Given the description of an element on the screen output the (x, y) to click on. 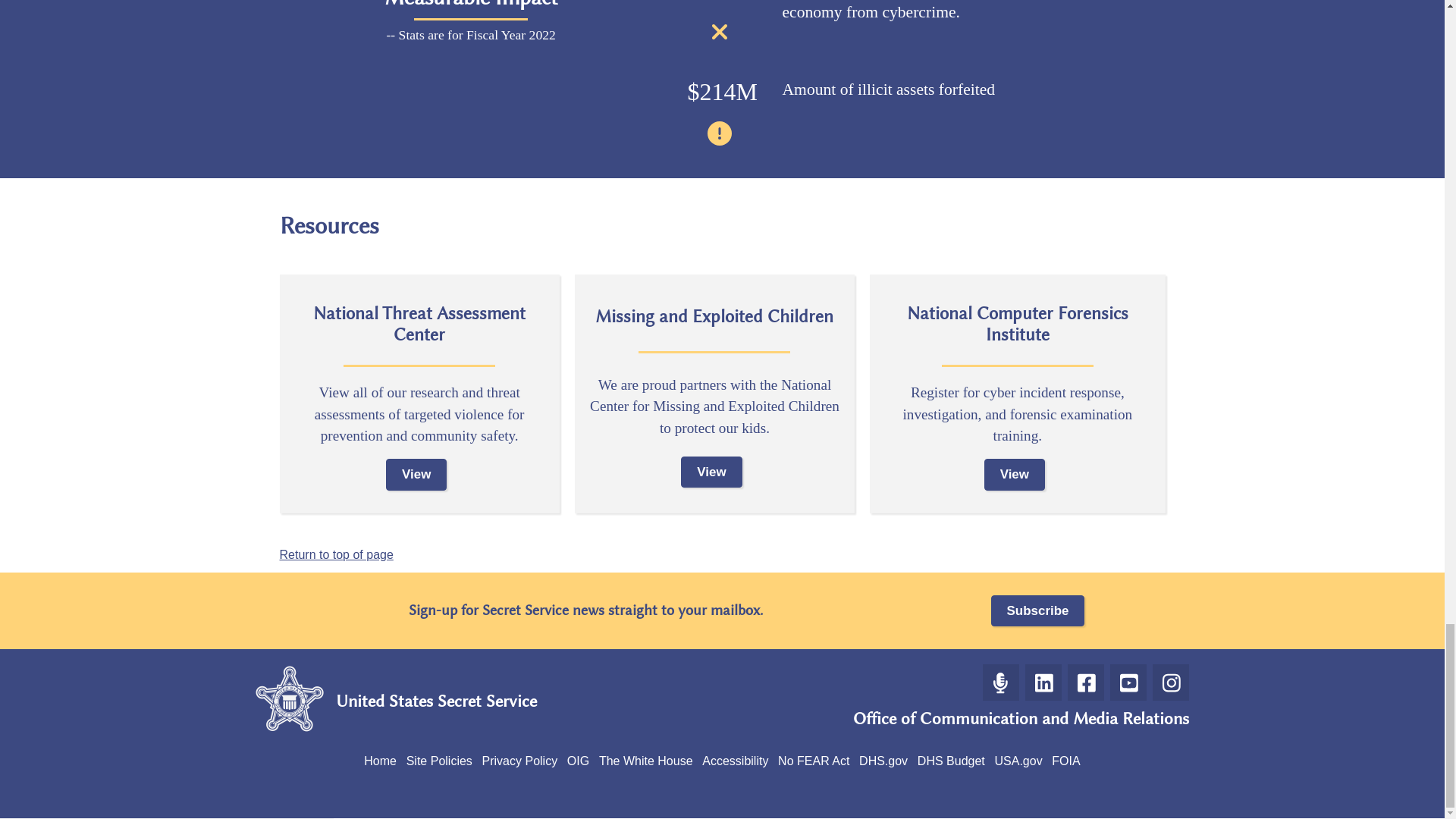
View (415, 473)
View (1014, 473)
View (711, 471)
